Given the description of an element on the screen output the (x, y) to click on. 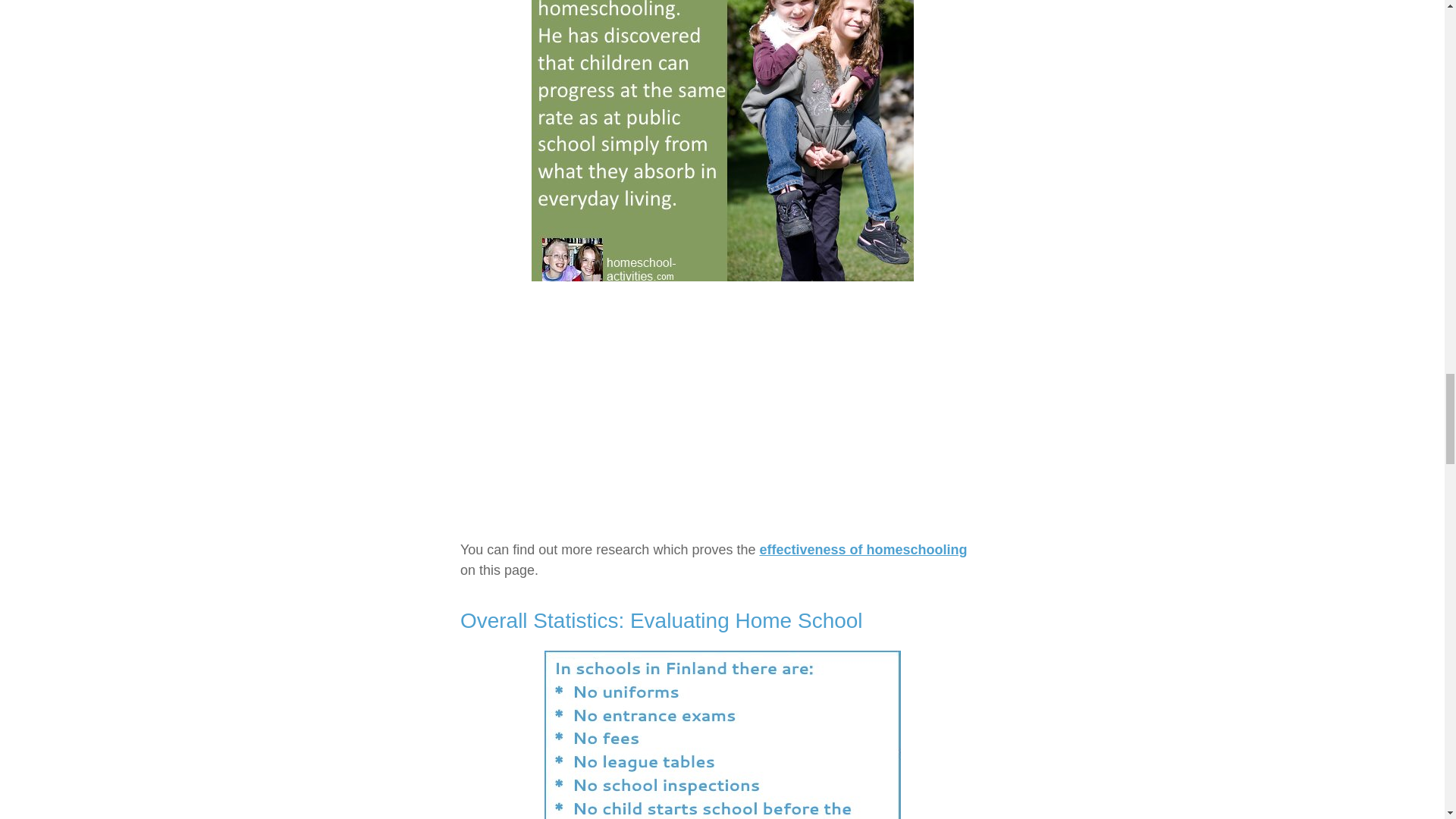
Dr Alan Thomas home education research (721, 140)
education in Finland (722, 734)
